Given the description of an element on the screen output the (x, y) to click on. 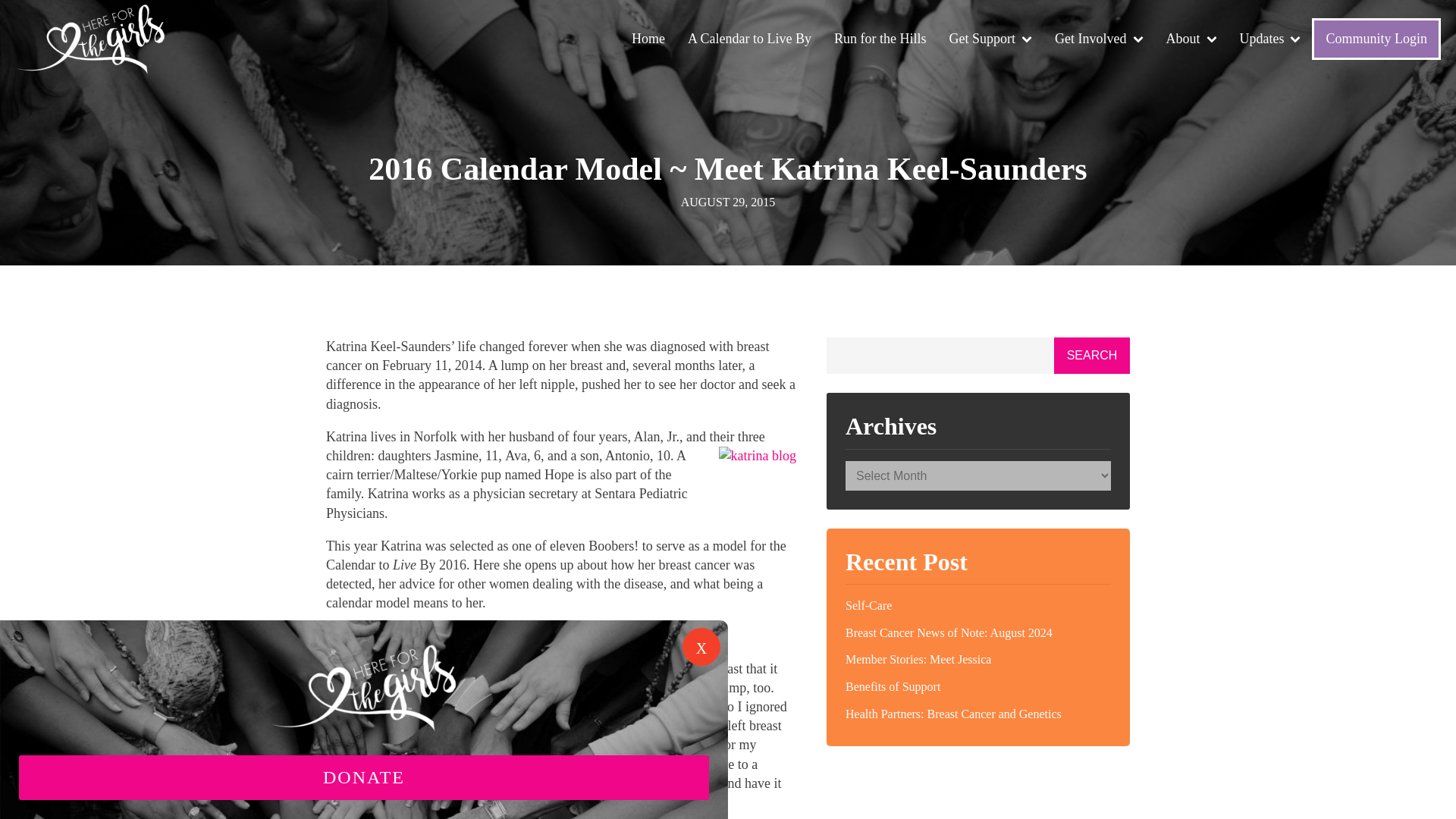
Updates (1270, 38)
Community Login (1376, 38)
About (1190, 38)
Home (648, 38)
Get Support (990, 38)
Breast Cancer News of Note: August 2024 (977, 633)
Community Login (1376, 38)
Self-Care (977, 605)
Health Partners: Breast Cancer and Genetics (977, 714)
Run for the Hills (879, 38)
